Given the description of an element on the screen output the (x, y) to click on. 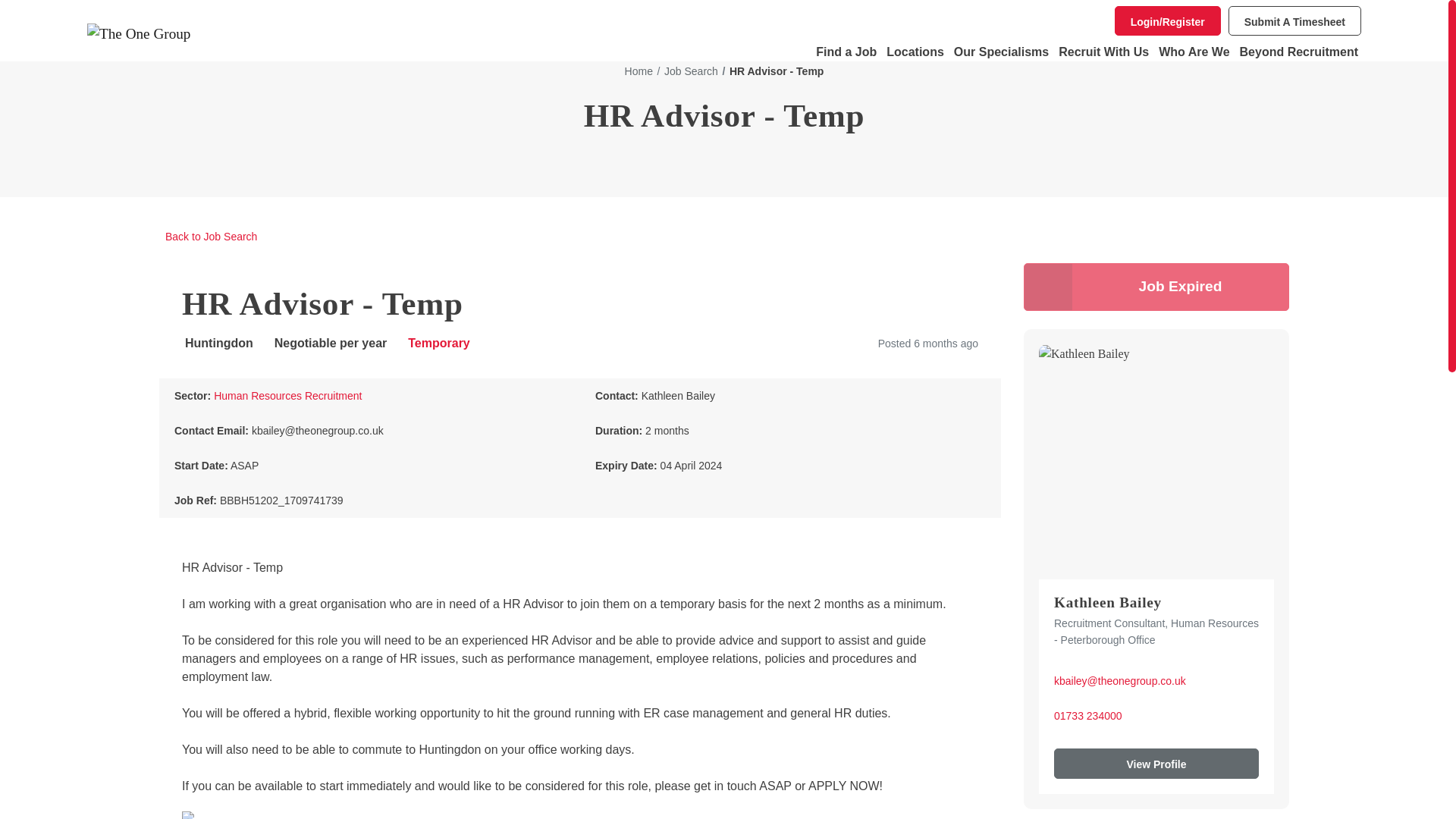
Beyond Recruitment (1298, 52)
Our Specialisms (1000, 52)
Find a Job (845, 52)
Locations (915, 52)
Recruit With Us (1103, 52)
Who Are We (1193, 52)
